Given the description of an element on the screen output the (x, y) to click on. 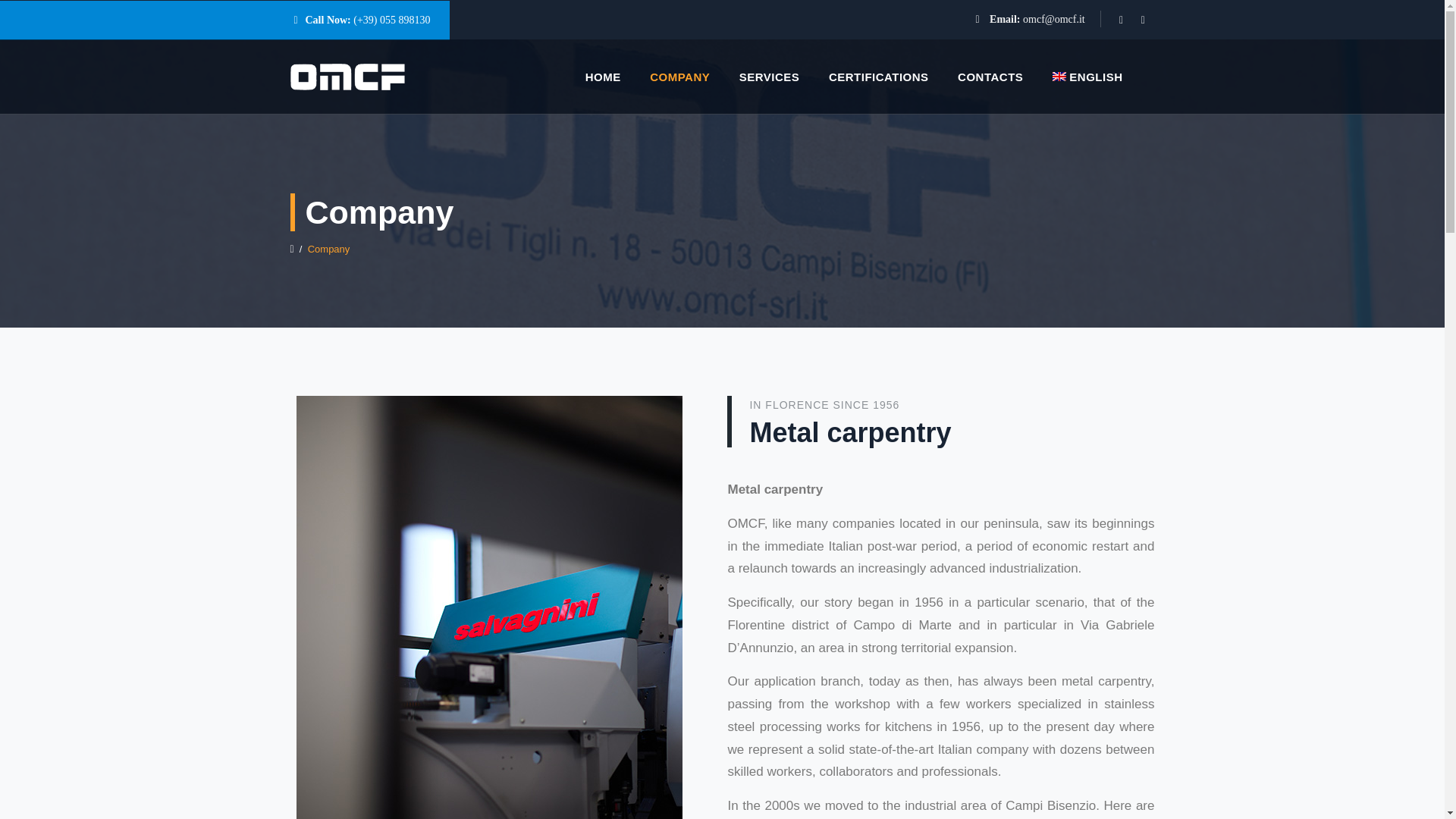
OMCF S.R.L. (346, 76)
CERTIFICATIONS (878, 76)
COMPANY (679, 76)
ENGLISH (1088, 76)
CONTACTS (989, 76)
English (1088, 76)
SERVICES (769, 76)
